Given the description of an element on the screen output the (x, y) to click on. 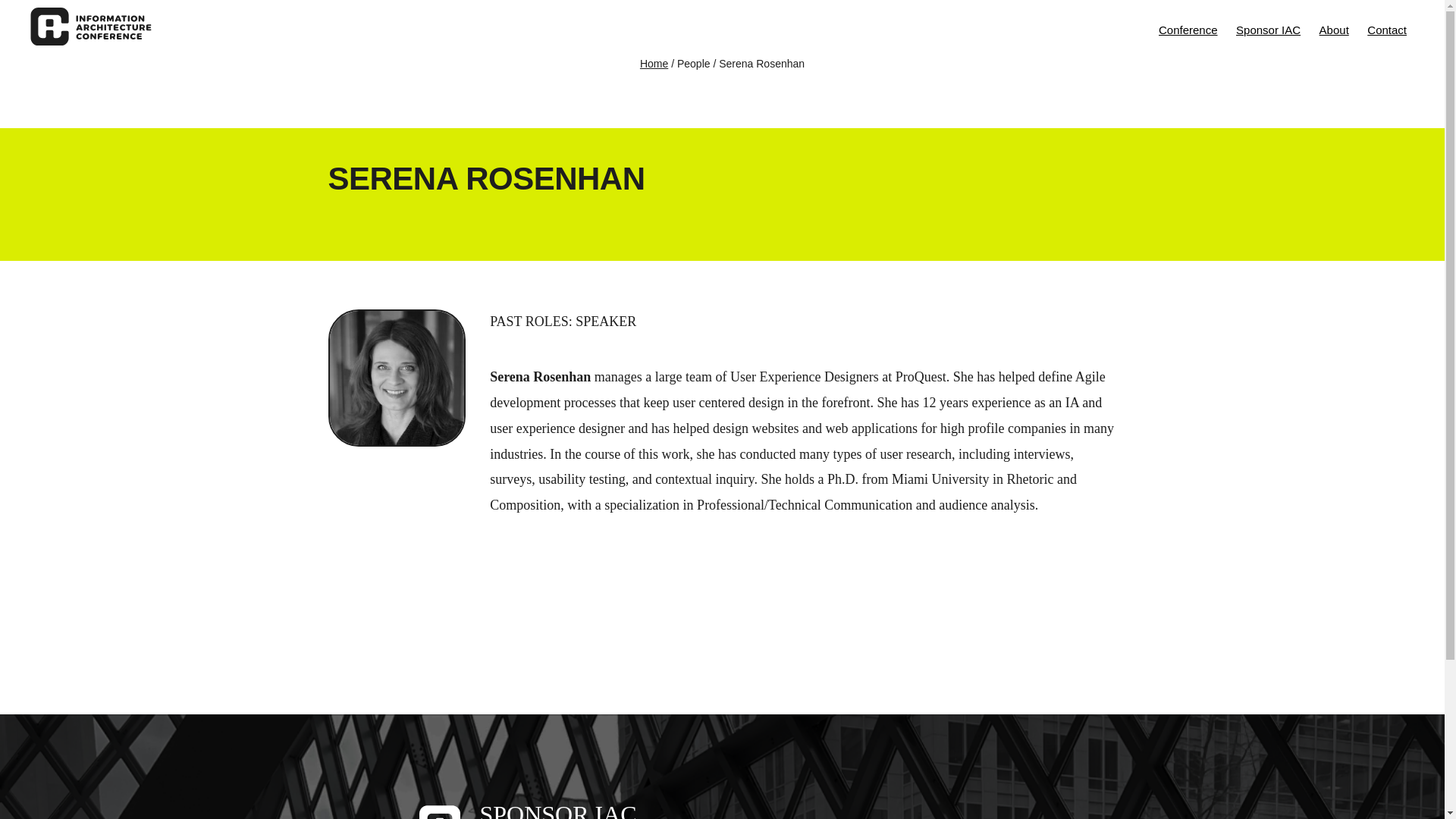
Sponsor IAC (1267, 29)
Home (654, 63)
Contact (1386, 29)
About (1333, 29)
IAC: INFORMATION ARCHITECTURE CONFERENCE (90, 30)
Conference (1188, 29)
